Given the description of an element on the screen output the (x, y) to click on. 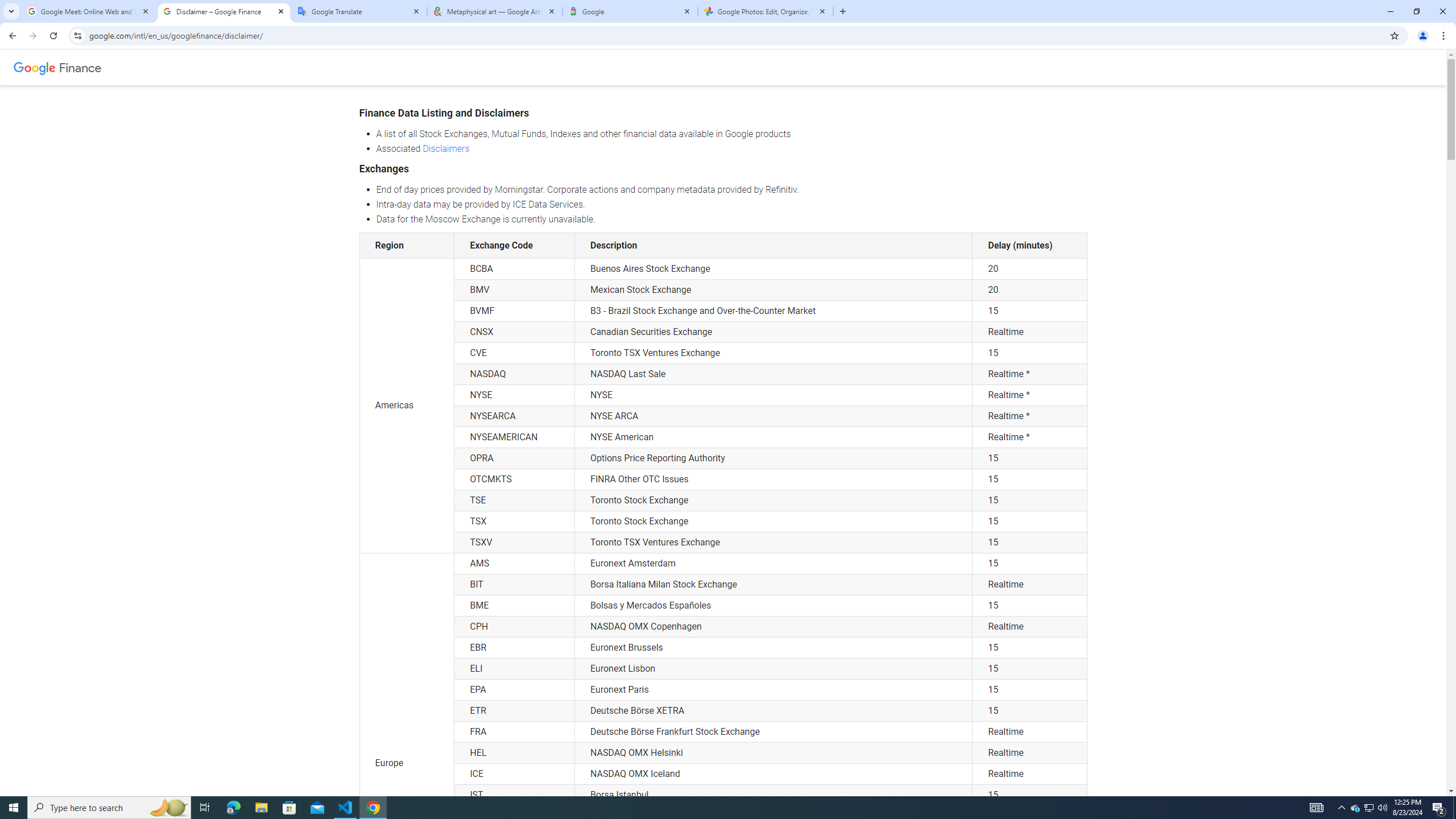
BIT (514, 584)
CNSX (514, 332)
CPH (514, 626)
AMS (514, 563)
FRA (514, 731)
NASDAQ (514, 373)
Google (34, 67)
NYSE (773, 395)
ICE (514, 773)
B3 - Brazil Stock Exchange and Over-the-Counter Market (773, 310)
Mexican Stock Exchange (773, 289)
Google (630, 11)
